Given the description of an element on the screen output the (x, y) to click on. 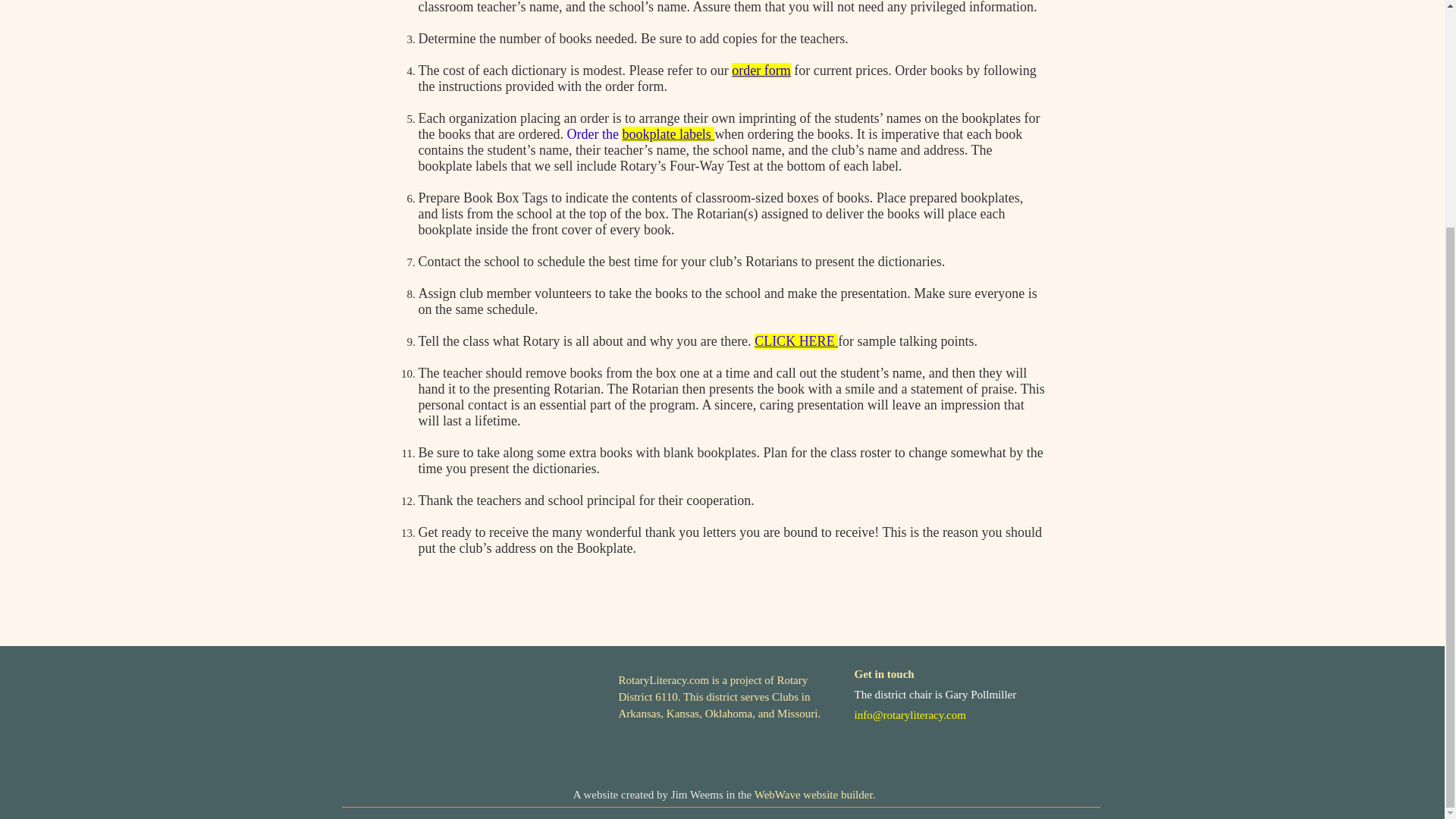
WebWave website builder (813, 794)
bookplate labels (665, 133)
CLICK HERE (794, 340)
Order the (593, 133)
order form (761, 70)
